Given the description of an element on the screen output the (x, y) to click on. 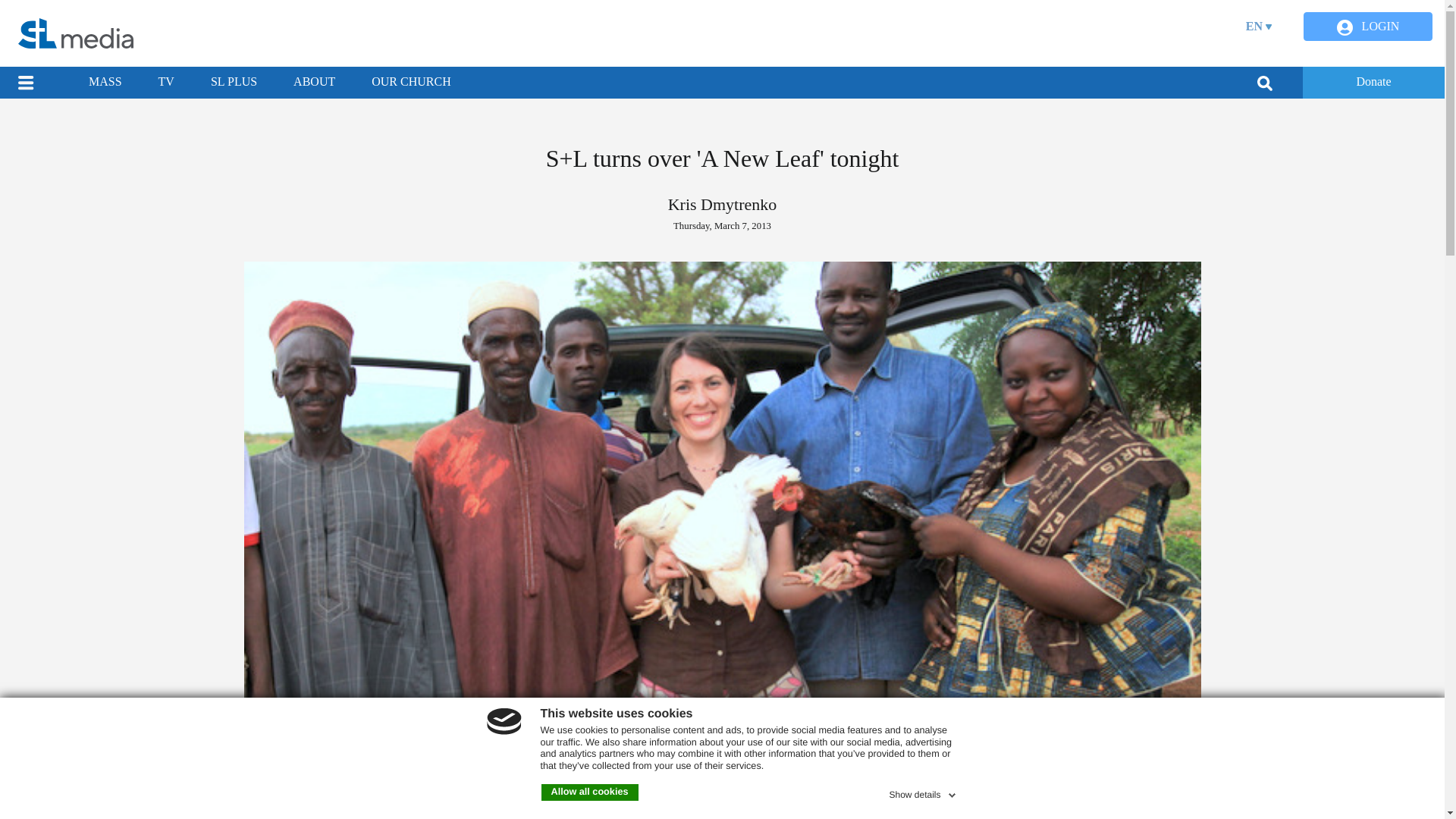
Allow all cookies (590, 791)
Show details (923, 791)
